Given the description of an element on the screen output the (x, y) to click on. 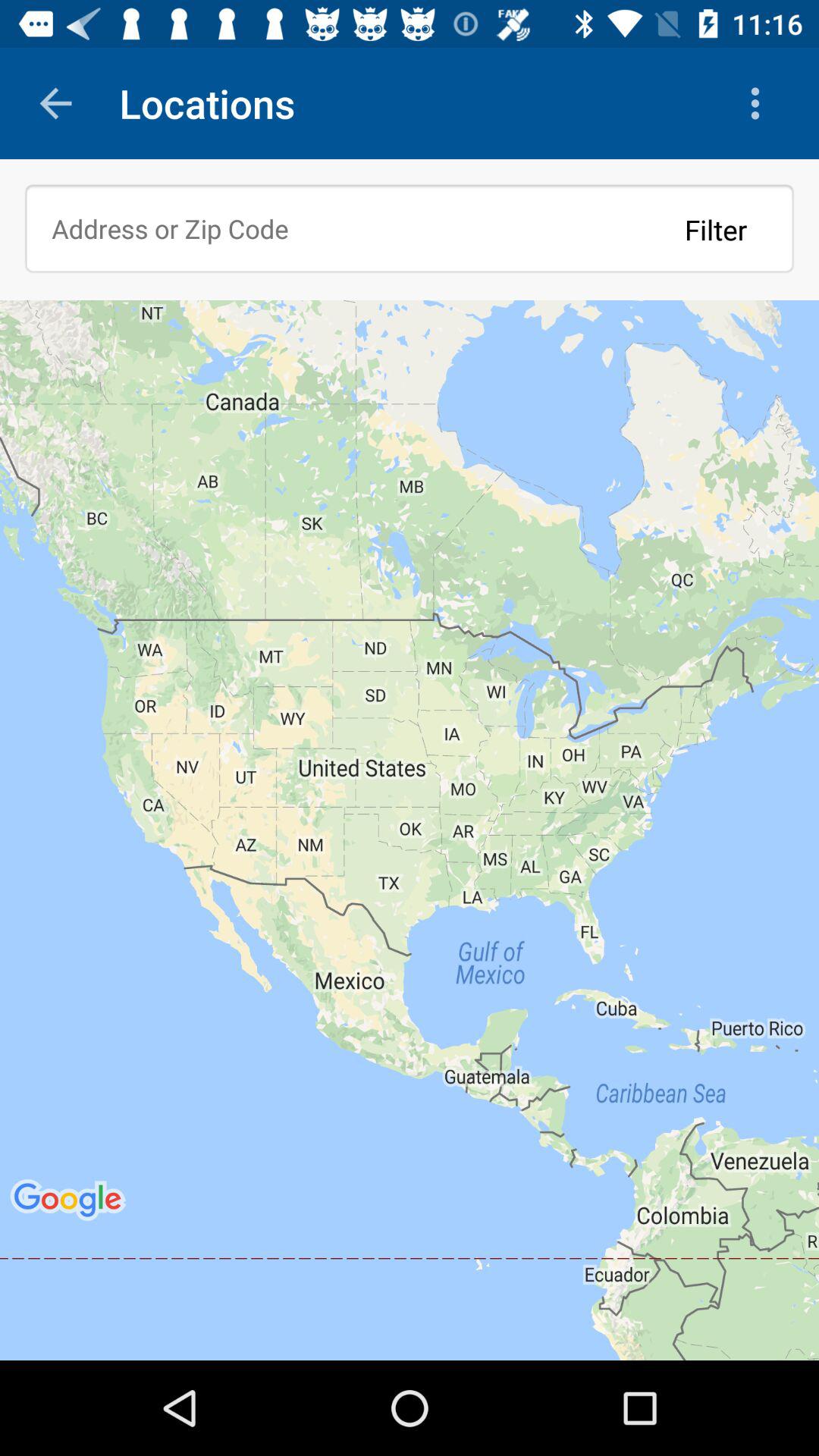
turn off item to the left of the locations icon (55, 103)
